Given the description of an element on the screen output the (x, y) to click on. 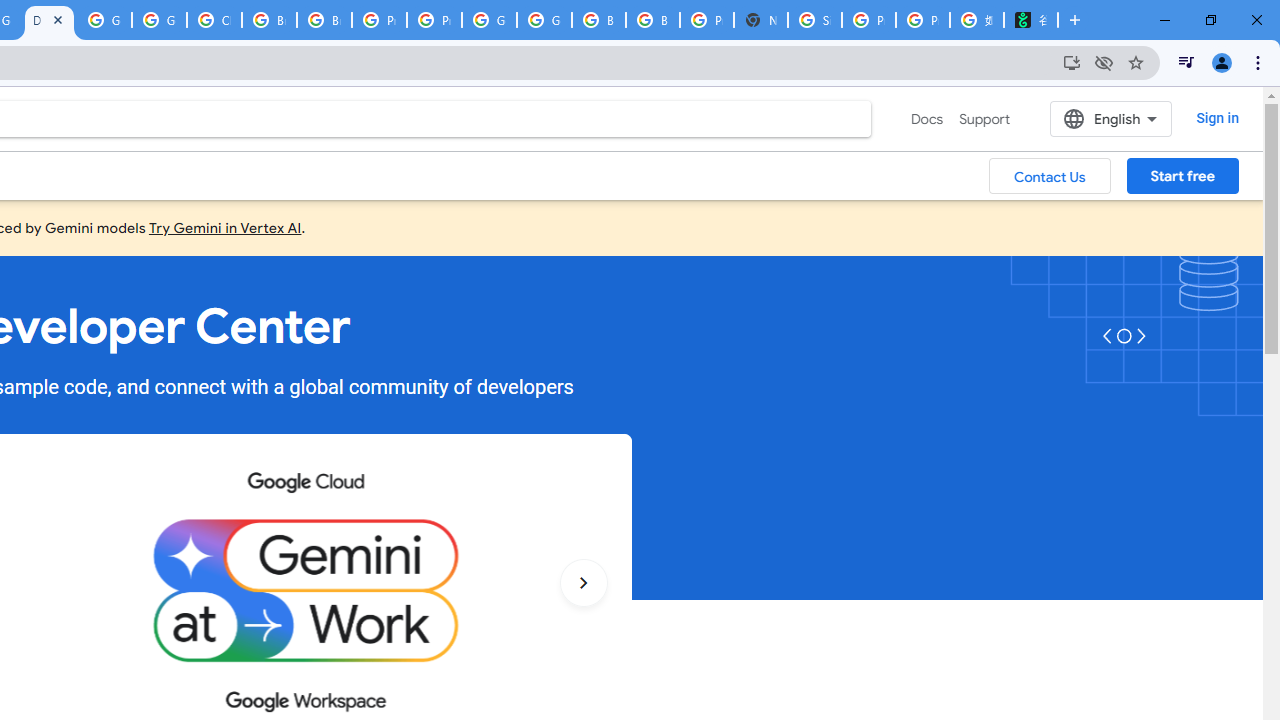
English (1110, 118)
Browse Chrome as a guest - Computer - Google Chrome Help (324, 20)
Start free (1182, 175)
Browse Chrome as a guest - Computer - Google Chrome Help (268, 20)
Google Cloud Platform (489, 20)
Try Gemini in Vertex AI (225, 227)
Sign in - Google Accounts (815, 20)
